Given the description of an element on the screen output the (x, y) to click on. 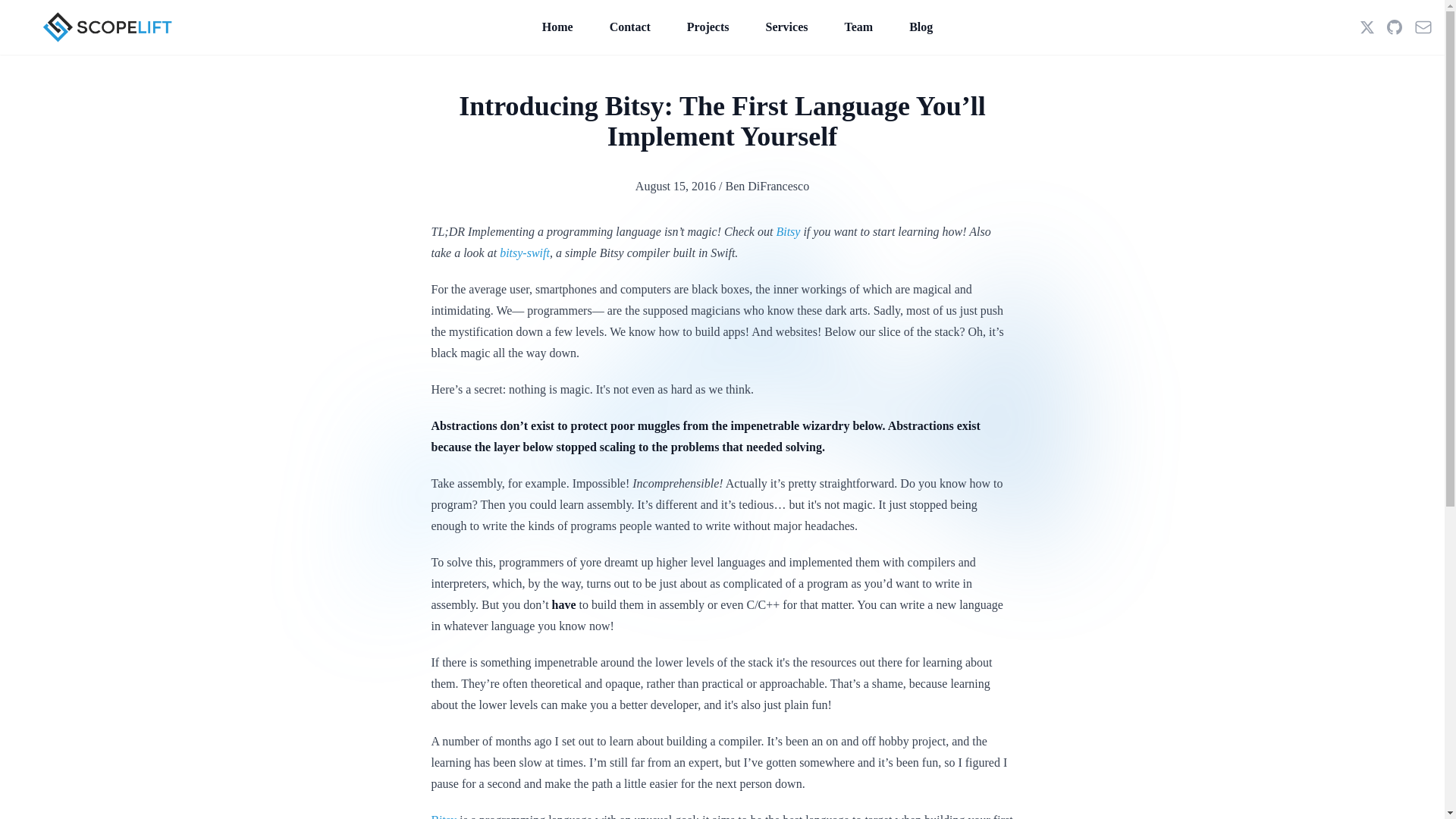
Team (858, 27)
Blog (920, 27)
Bitsy (787, 231)
Bitsy (443, 816)
GitHub (1394, 27)
Projects (708, 27)
X (1366, 27)
Contact (630, 27)
Email (1422, 27)
Home (557, 27)
